Given the description of an element on the screen output the (x, y) to click on. 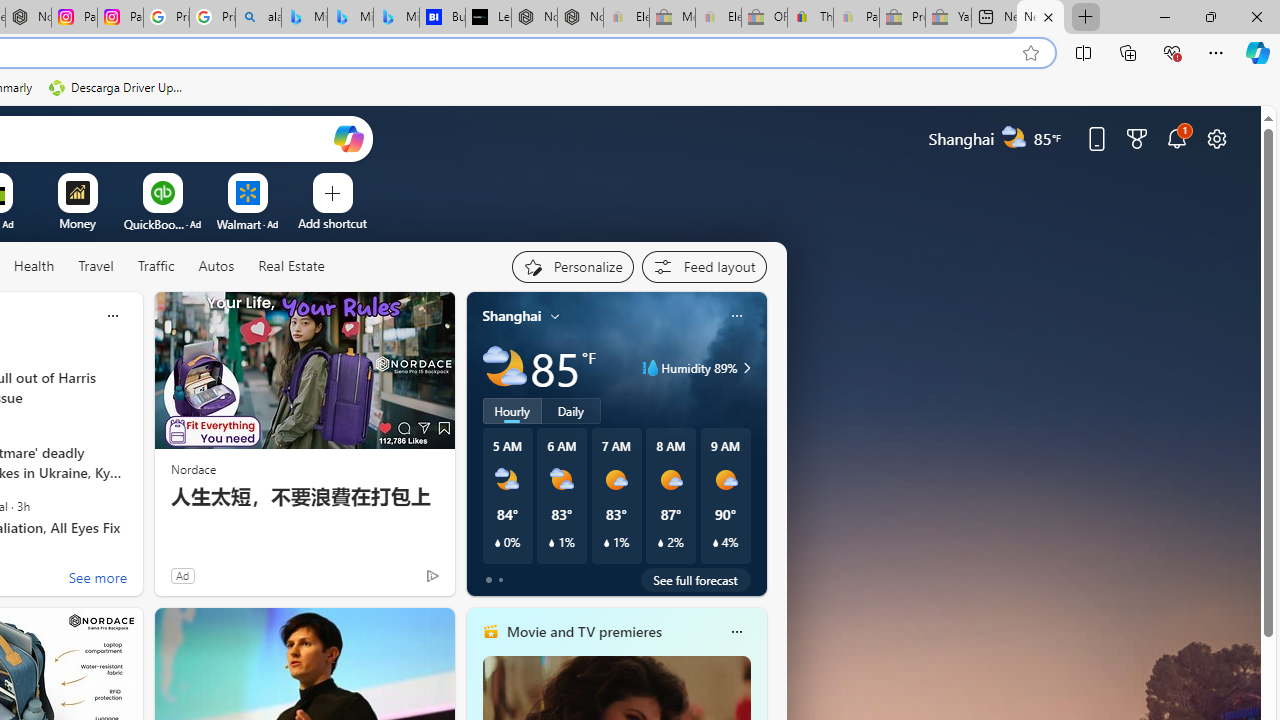
Partly cloudy (504, 368)
Personalize your feed" (571, 266)
Real Estate (290, 267)
alabama high school quarterback dies - Search (258, 17)
